Given the description of an element on the screen output the (x, y) to click on. 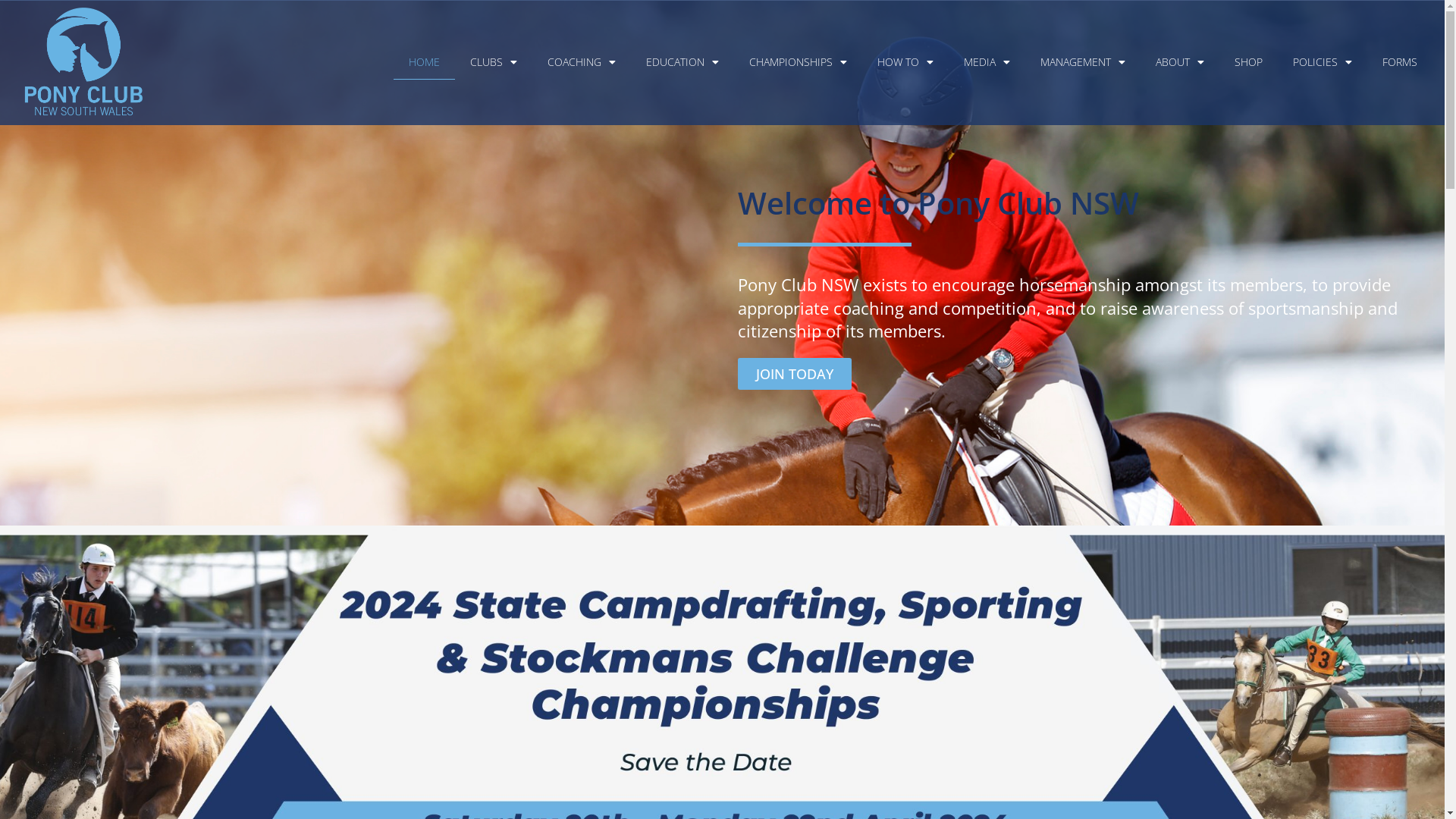
MEDIA Element type: text (986, 61)
HOW TO Element type: text (905, 61)
MANAGEMENT Element type: text (1082, 61)
EDUCATION Element type: text (682, 61)
CLUBS Element type: text (493, 61)
CHAMPIONSHIPS Element type: text (798, 61)
ABOUT Element type: text (1179, 61)
COACHING Element type: text (581, 61)
POLICIES Element type: text (1322, 61)
FORMS Element type: text (1399, 61)
SHOP Element type: text (1248, 61)
JOIN TODAY Element type: text (793, 373)
HOME Element type: text (424, 61)
